Given the description of an element on the screen output the (x, y) to click on. 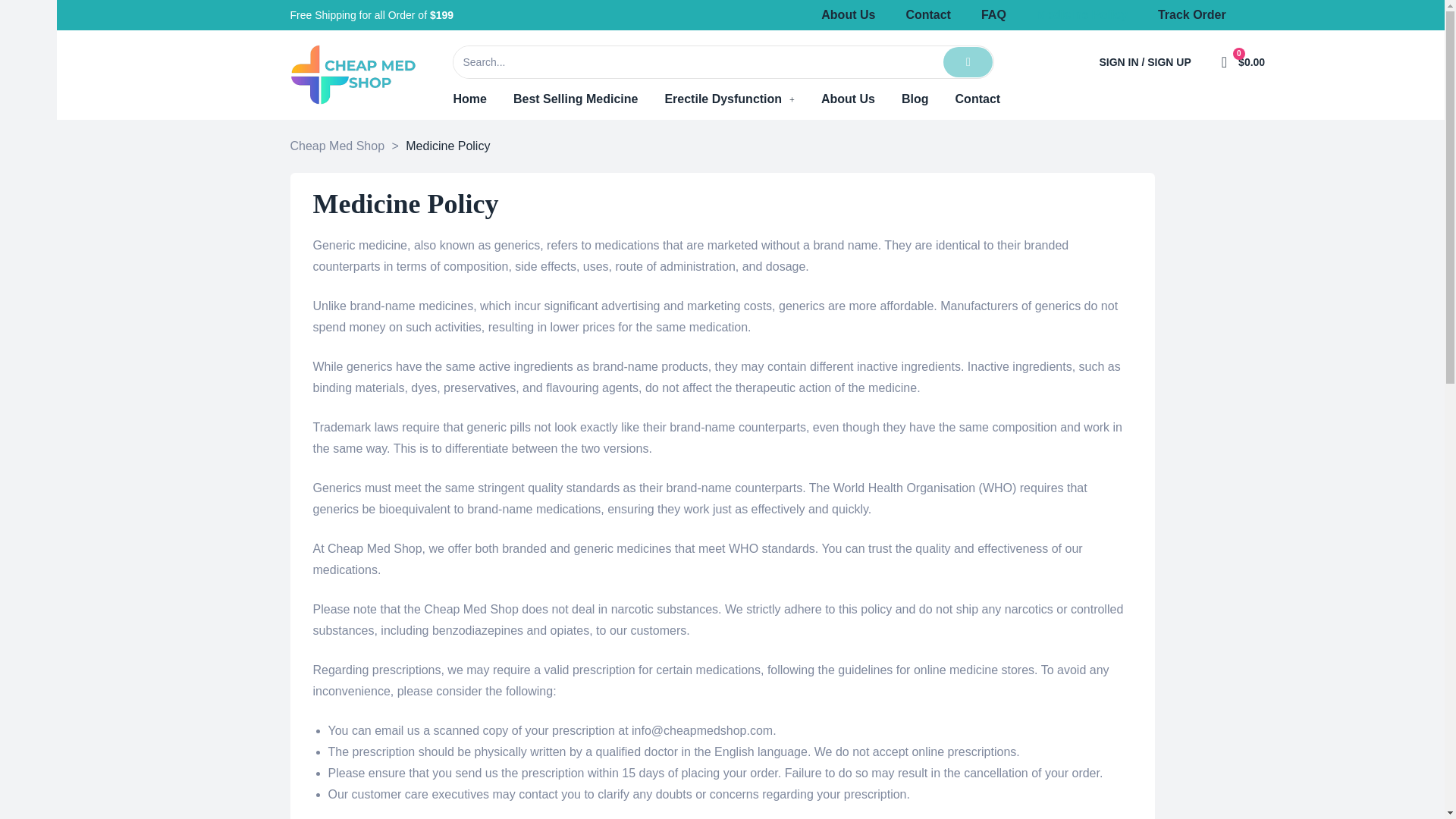
About Us (848, 99)
Search (697, 61)
Track Order (1191, 15)
Medicine Policy (1081, 15)
FAQ (993, 15)
Go to Cheap Med Shop. (336, 145)
About Us (848, 15)
Best Selling Medicine (575, 99)
Contact (927, 15)
Erectile Dysfunction (728, 99)
Home (469, 99)
